Given the description of an element on the screen output the (x, y) to click on. 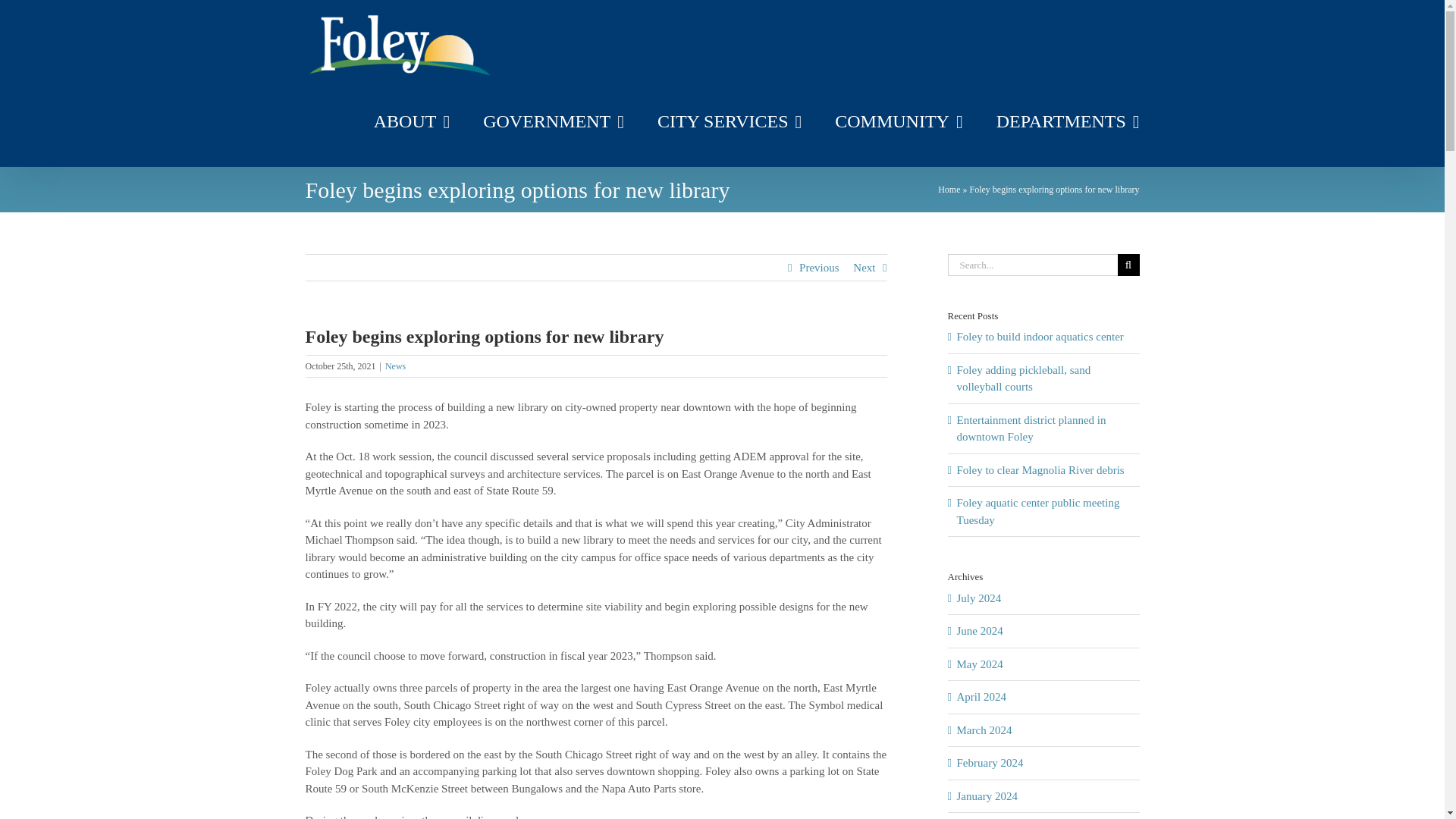
ABOUT (411, 120)
GOVERNMENT (553, 120)
CITY SERVICES (730, 120)
COMMUNITY (898, 120)
